Given the description of an element on the screen output the (x, y) to click on. 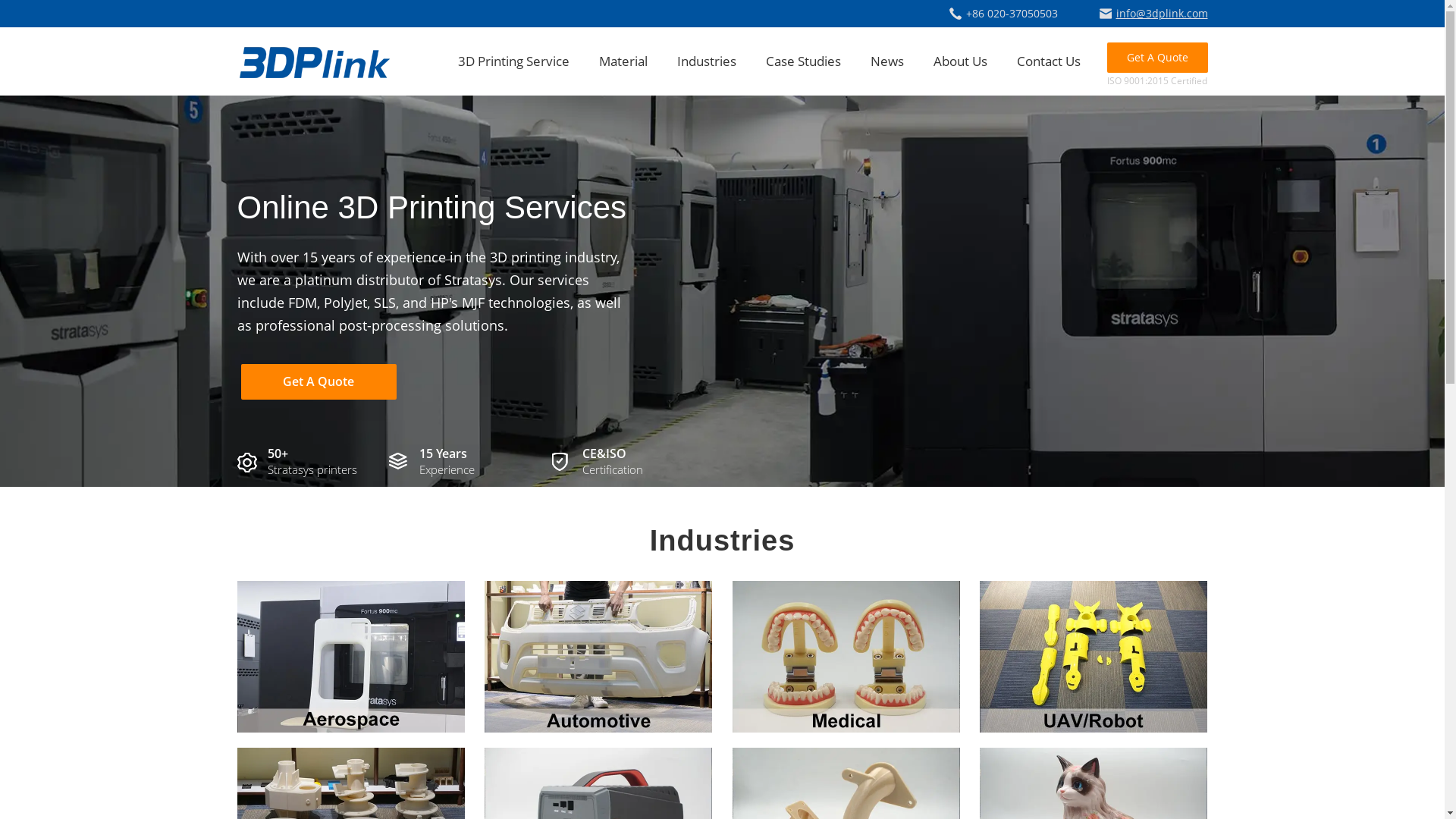
Material Element type: text (623, 60)
Industries Element type: text (705, 60)
News Element type: text (886, 60)
About Us Element type: text (959, 60)
3D Printing Service Element type: text (513, 60)
Get A Quote Element type: text (318, 381)
Get A Quote Element type: text (1157, 57)
Case Studies Element type: text (802, 60)
Contact Us Element type: text (1047, 60)
info@3dplink.com Element type: text (1153, 13)
